Given the description of an element on the screen output the (x, y) to click on. 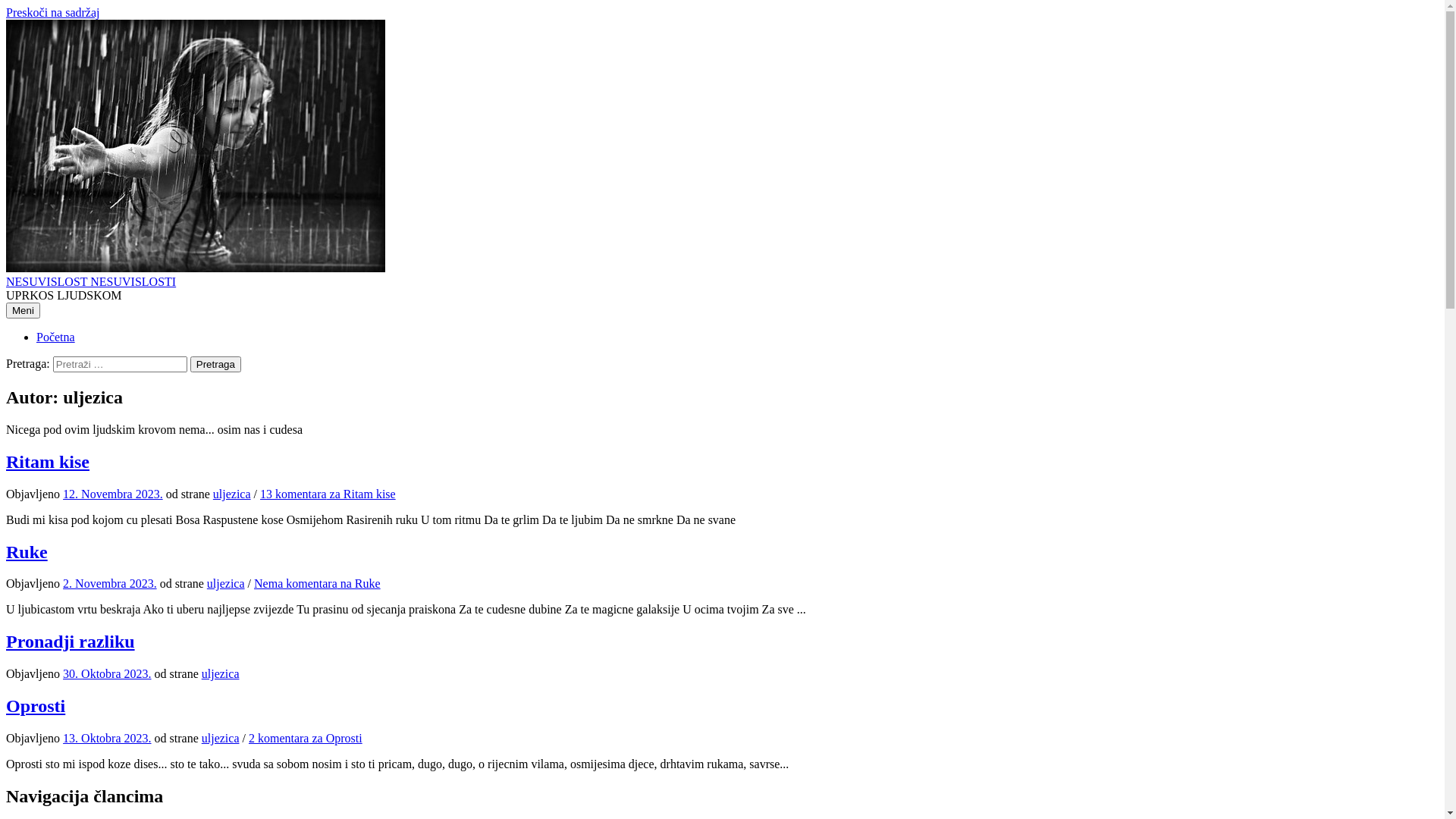
uljezica Element type: text (220, 737)
uljezica Element type: text (232, 493)
Pronadji razliku Element type: text (70, 641)
Meni Element type: text (23, 310)
uljezica Element type: text (225, 583)
Ruke Element type: text (26, 551)
2 komentara za Oprosti Element type: text (305, 737)
12. Novembra 2023. Element type: text (112, 493)
Nema komentara na Ruke Element type: text (317, 583)
2. Novembra 2023. Element type: text (109, 583)
NESUVISLOST NESUVISLOSTI Element type: text (90, 281)
13 komentara za Ritam kise Element type: text (327, 493)
13. Oktobra 2023. Element type: text (106, 737)
Oprosti Element type: text (35, 705)
uljezica Element type: text (220, 673)
Pretraga Element type: text (215, 364)
Ritam kise Element type: text (47, 461)
30. Oktobra 2023. Element type: text (106, 673)
